Given the description of an element on the screen output the (x, y) to click on. 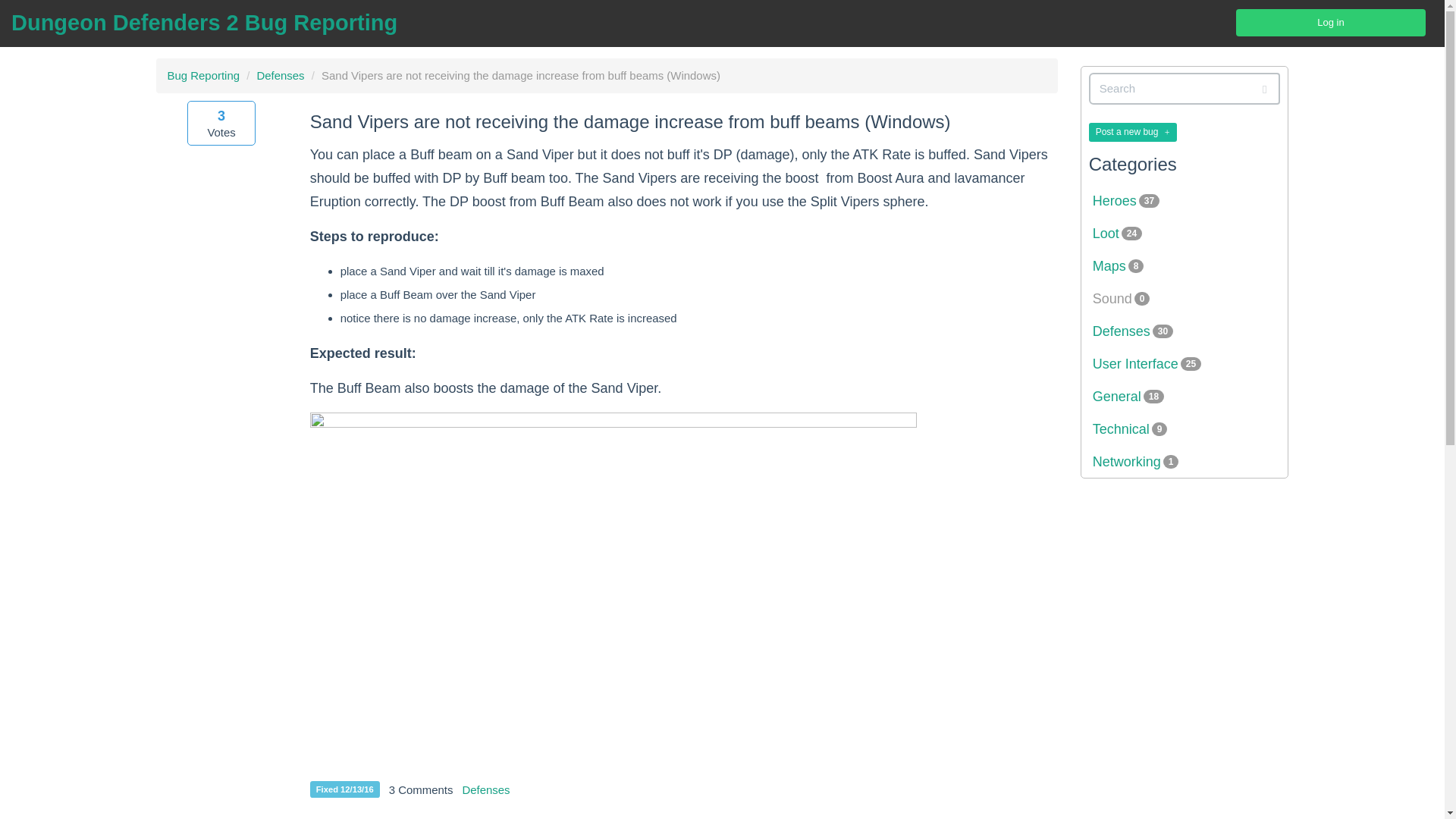
Bug Reporting (203, 74)
Post a new bug (1132, 130)
General18 (1185, 396)
Maps8 (1185, 265)
Dungeon Defenders 2 Bug Reporting (204, 22)
Defenses (280, 74)
Defenses30 (1185, 331)
User Interface25 (1185, 364)
Log in (1330, 22)
Loot24 (1185, 233)
Technical9 (1185, 429)
Networking1 (1185, 461)
Post a new bug (1132, 131)
Sound0 (1185, 298)
Defenses (485, 789)
